Given the description of an element on the screen output the (x, y) to click on. 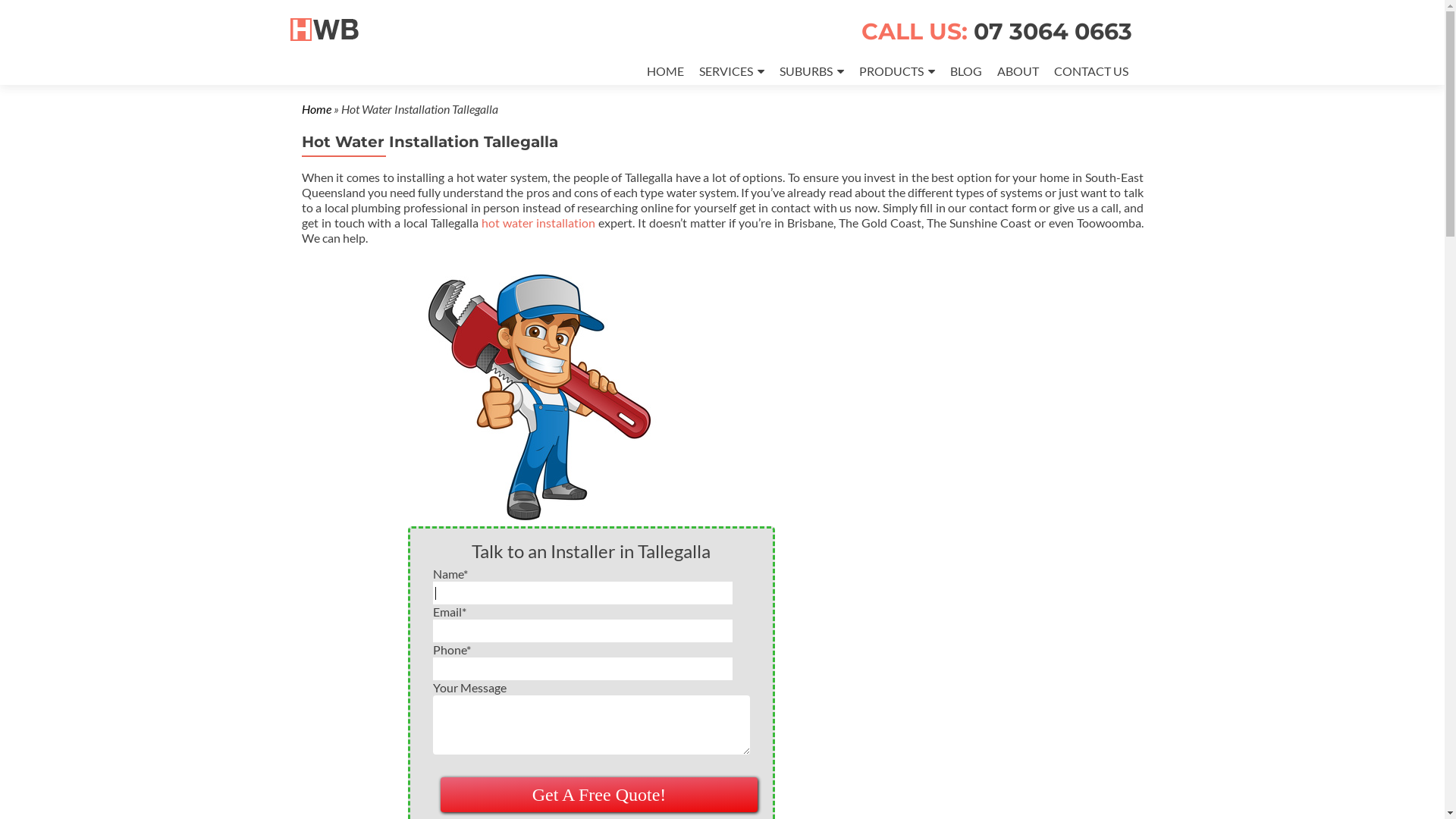
CALL US: 07 3064 0663 Element type: text (996, 31)
HOME Element type: text (664, 70)
hot water installation Element type: text (537, 222)
Home Element type: text (316, 108)
CONTACT US Element type: text (1091, 70)
ABOUT Element type: text (1017, 70)
SUBURBS Element type: text (811, 70)
Skip to content Element type: text (340, 66)
SERVICES Element type: text (731, 70)
Get a Free Quote! Element type: text (597, 794)
PRODUCTS Element type: text (896, 70)
BLOG Element type: text (965, 70)
